Given the description of an element on the screen output the (x, y) to click on. 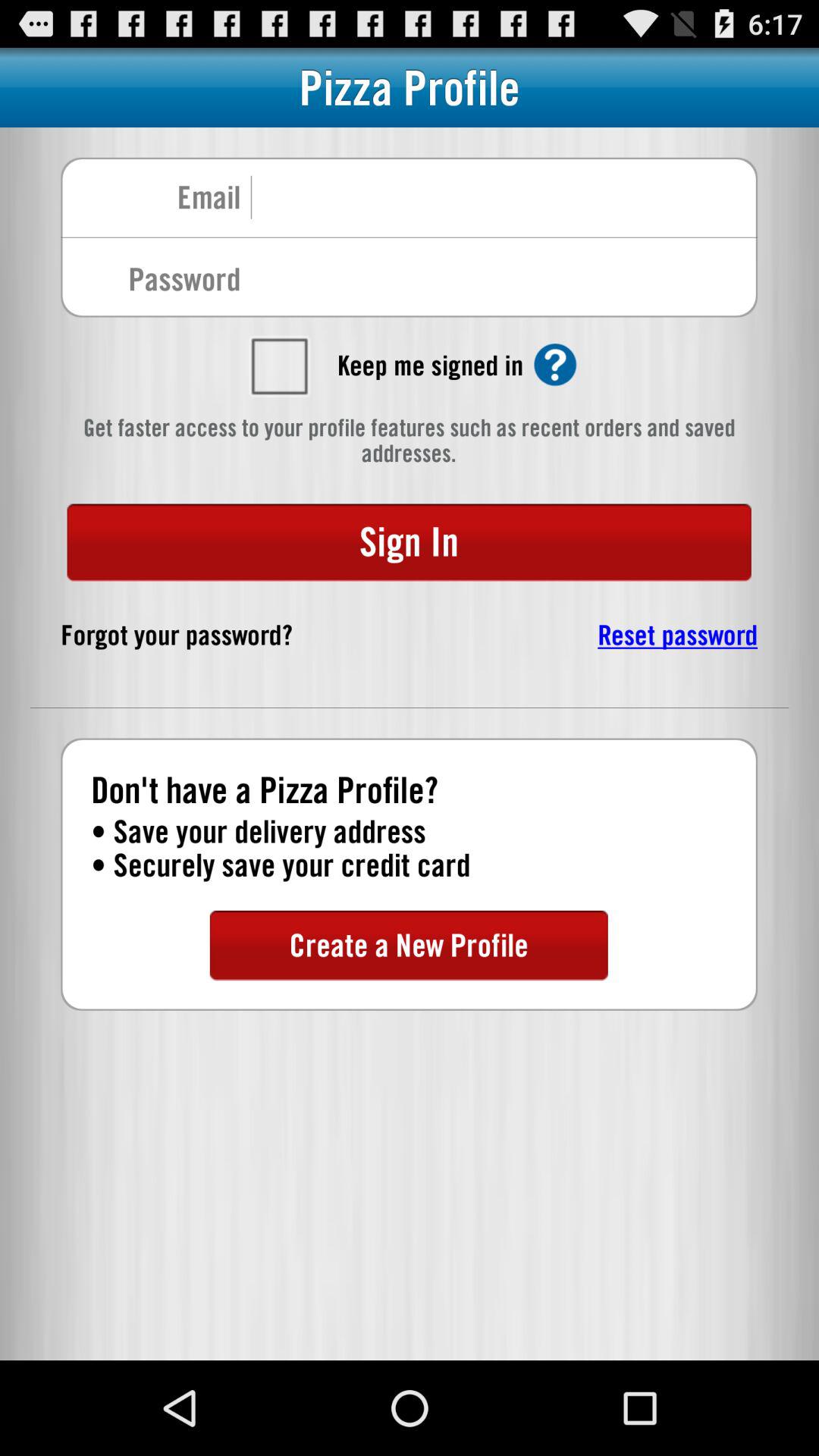
select the symbol which is immediate to the left of  keep me signed in (278, 365)
